Given the description of an element on the screen output the (x, y) to click on. 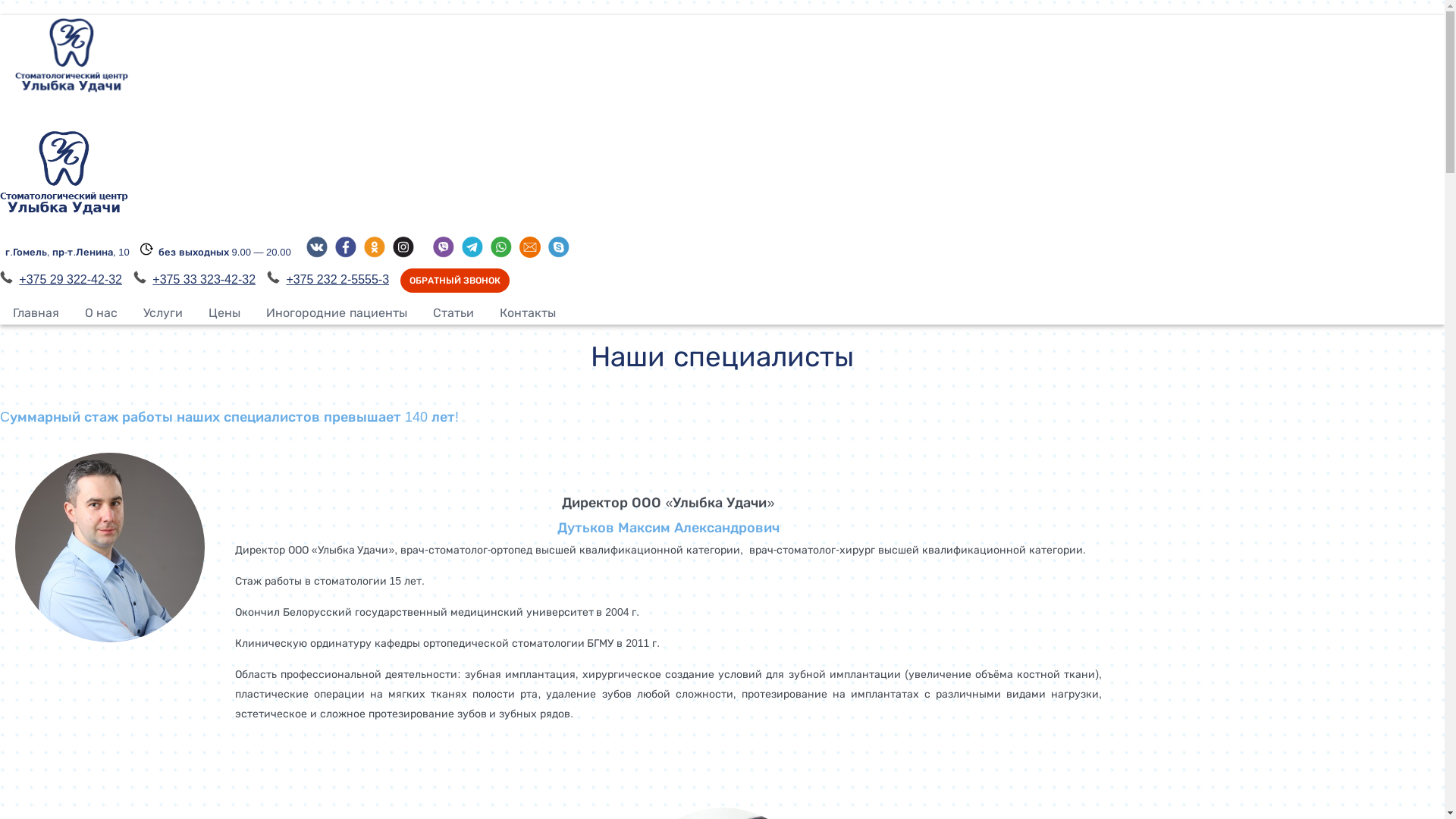
Telegram Element type: hover (472, 252)
Skype Element type: hover (558, 252)
Viber Element type: hover (443, 252)
Facebook Element type: hover (345, 252)
WhatsApp Element type: hover (500, 252)
E-mail Element type: hover (529, 252)
+375 232 2-5555-3 Element type: text (337, 279)
+375 29 322-42-32 Element type: text (70, 279)
+375 33 323-42-32 Element type: text (203, 279)
Instagram Element type: hover (403, 252)
